Given the description of an element on the screen output the (x, y) to click on. 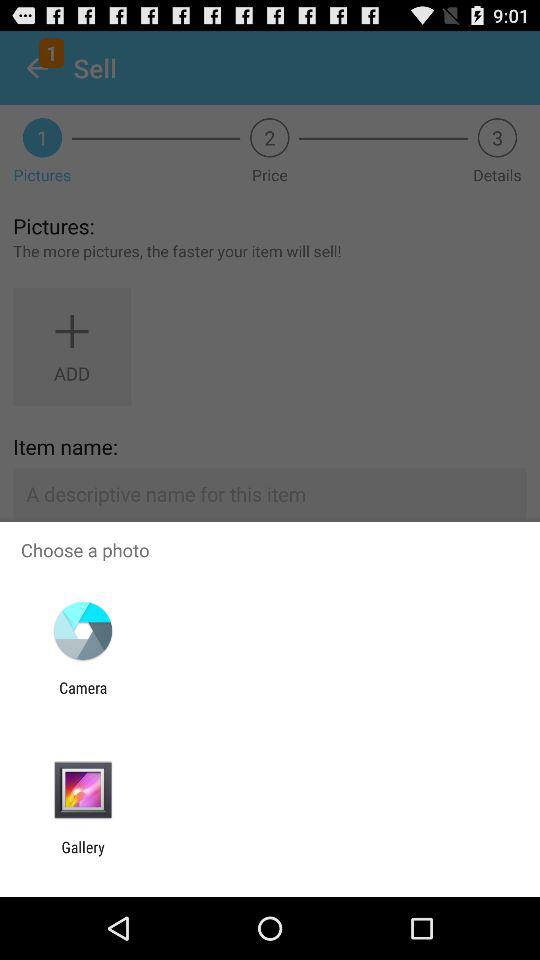
jump to camera app (83, 696)
